Given the description of an element on the screen output the (x, y) to click on. 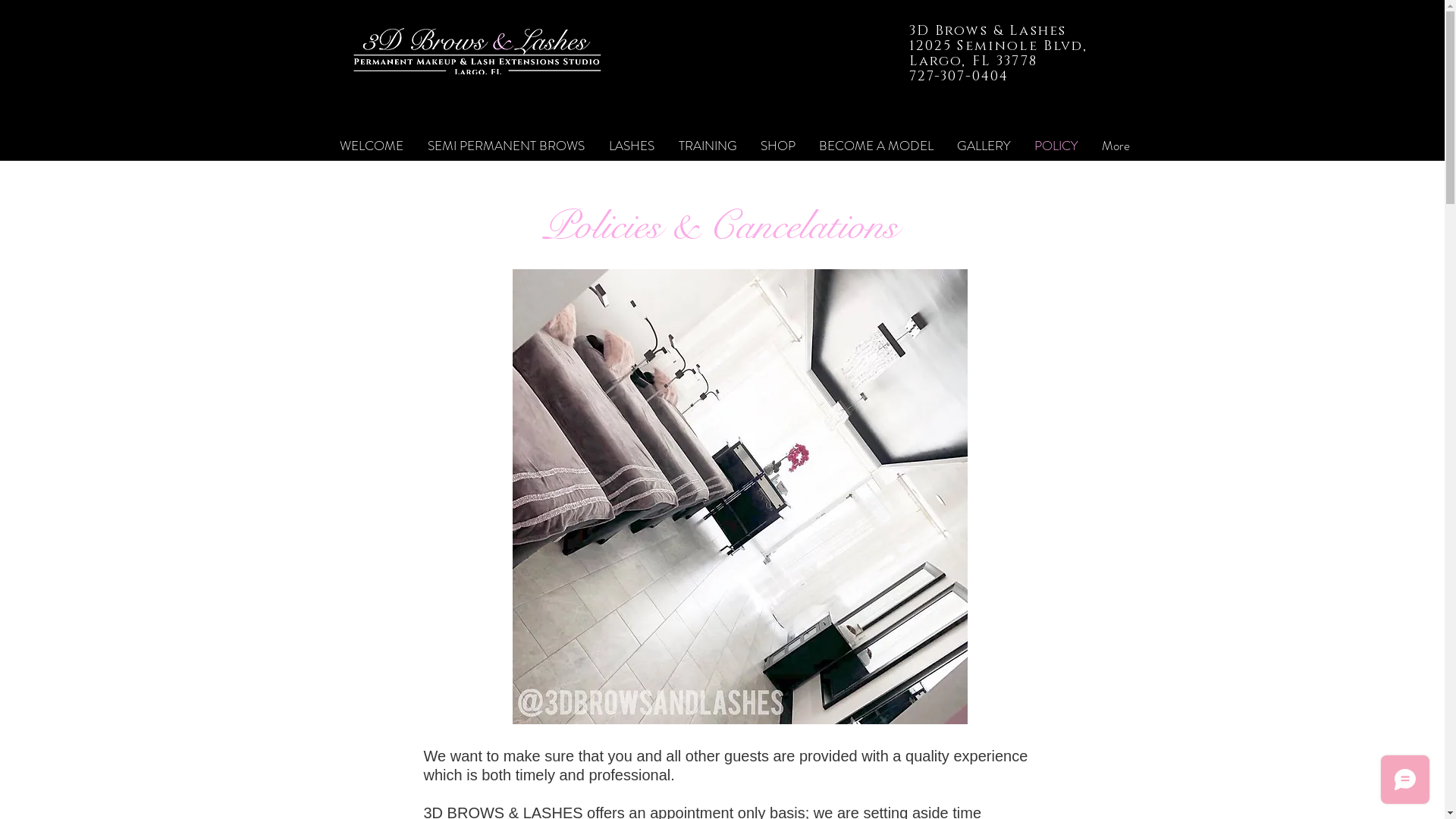
TRAINING Element type: text (706, 145)
GALLERY Element type: text (983, 145)
BECOME A MODEL Element type: text (875, 145)
SEMI PERMANENT BROWS Element type: text (505, 145)
POLICY Element type: text (1055, 145)
SHOP Element type: text (778, 145)
WELCOME Element type: text (371, 145)
LASHES Element type: text (630, 145)
